Given the description of an element on the screen output the (x, y) to click on. 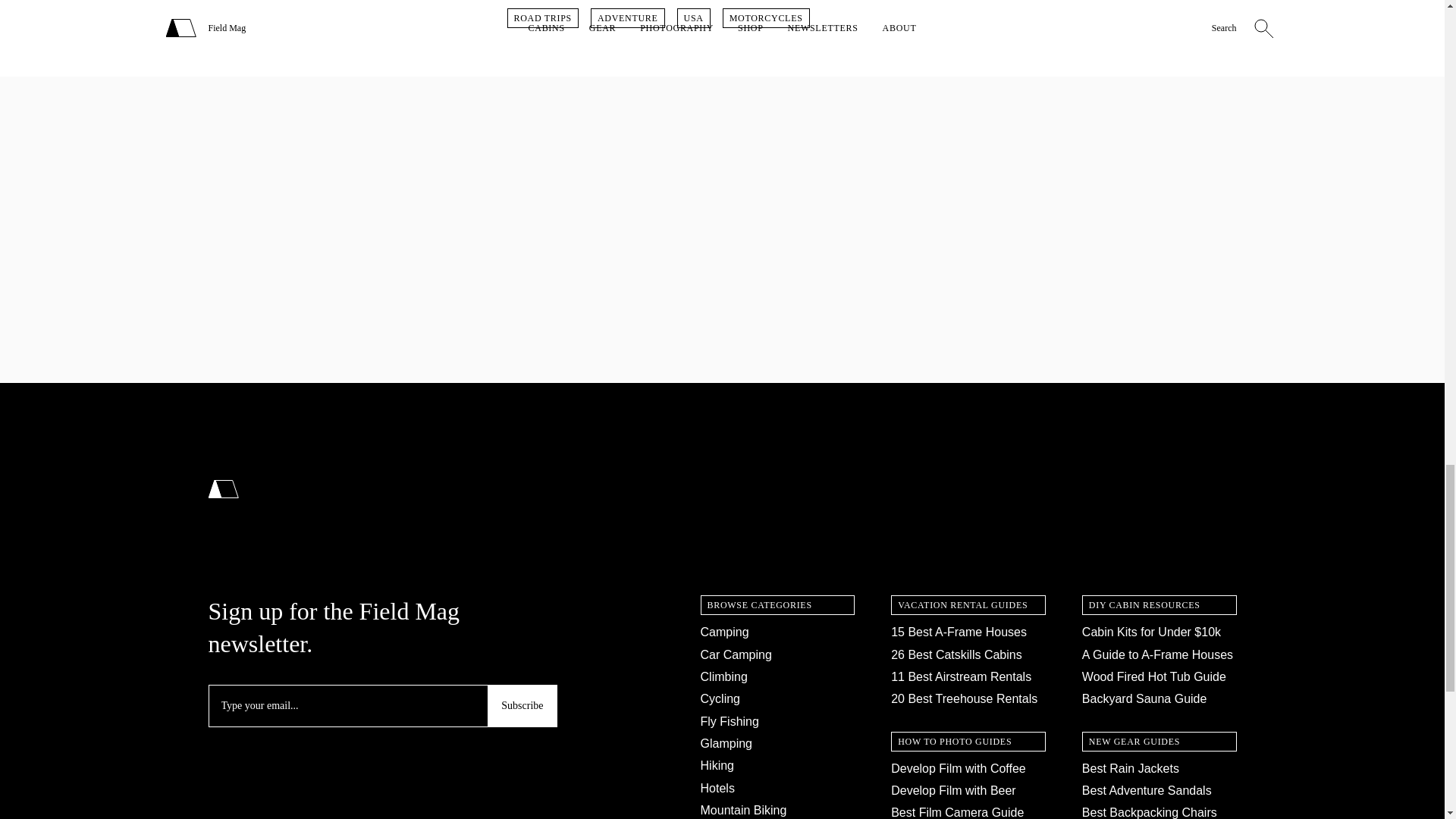
ADVENTURE (628, 17)
Camping (724, 631)
Fly Fishing (729, 721)
Glamping (726, 743)
Climbing (724, 676)
ROAD TRIPS (542, 17)
Hiking (716, 765)
Car Camping (735, 654)
15 Best A-Frame Houses (958, 631)
Mountain Biking (743, 809)
Cycling (719, 698)
Hotels (717, 788)
USA (693, 17)
Subscribe (521, 705)
MOTORCYCLES (765, 17)
